Given the description of an element on the screen output the (x, y) to click on. 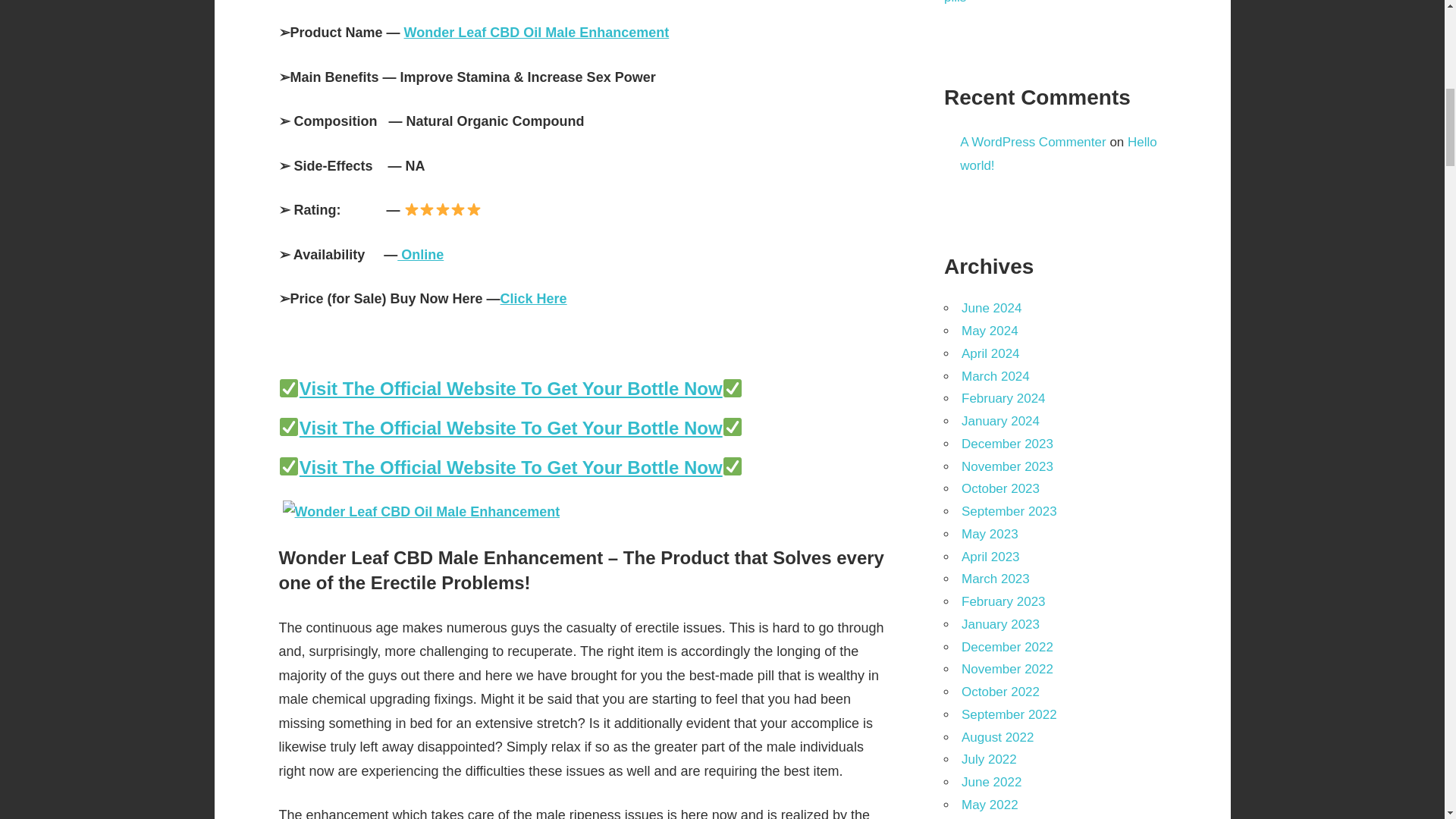
Visit The Official Website To Get Your Bottle Now (510, 467)
Wonder Leaf CBD Oil Male Enhancement (536, 32)
Click Here (533, 298)
 Online (420, 254)
Visit The Official Website To Get Your Bottle Now (510, 427)
Visit The Official Website To Get Your Bottle Now (510, 388)
